Given the description of an element on the screen output the (x, y) to click on. 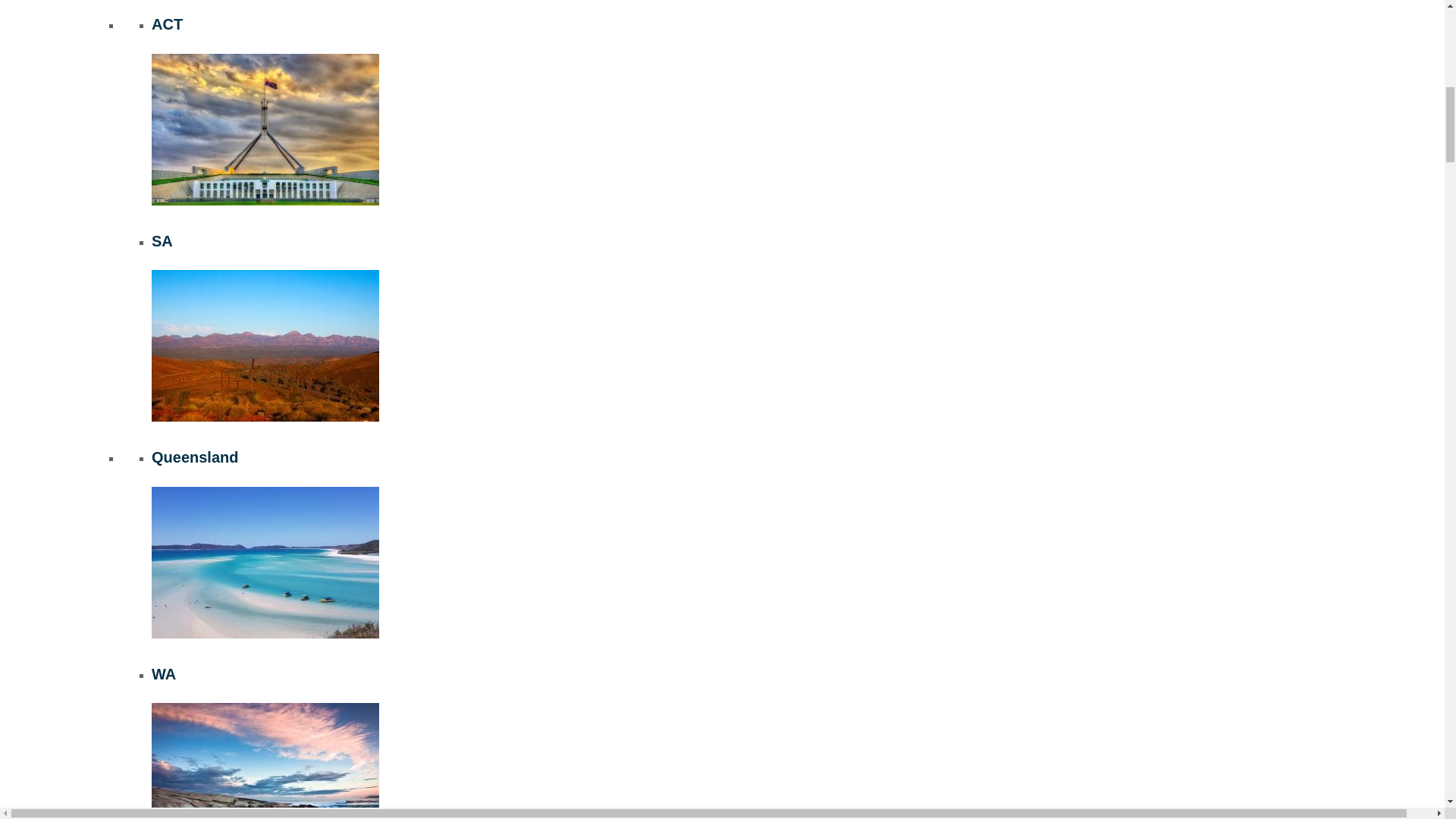
Australian Capital Territory (264, 129)
